Given the description of an element on the screen output the (x, y) to click on. 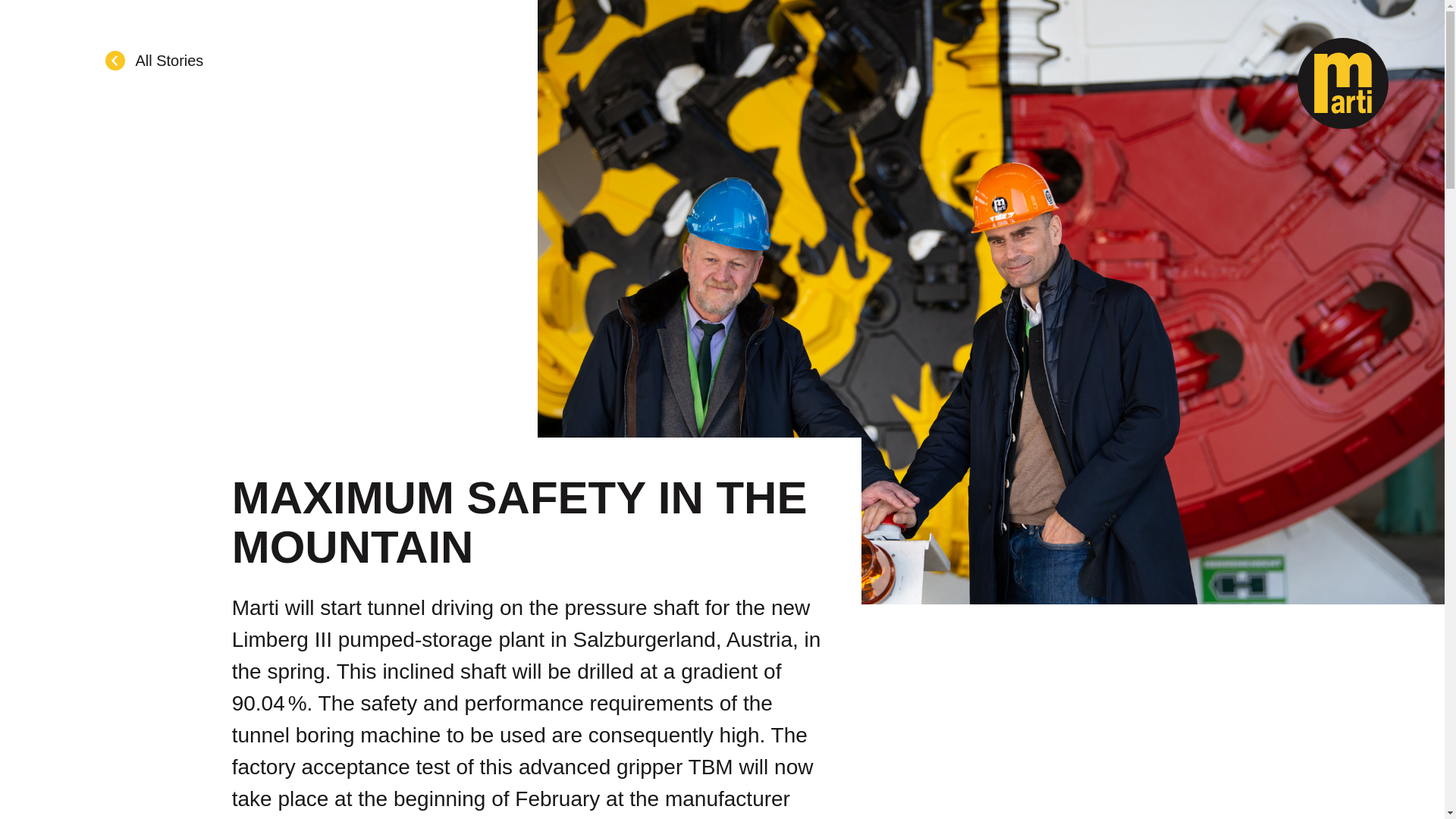
All Stories (153, 60)
Privacy (240, 771)
Imprint (183, 771)
IT Support (309, 771)
Competencies (698, 645)
nfmrtgch (165, 711)
martifuture (1015, 712)
Stories (671, 612)
Contact (997, 612)
Sustainability (1018, 645)
Homepage (160, 545)
About us (678, 712)
Projects (674, 679)
